Given the description of an element on the screen output the (x, y) to click on. 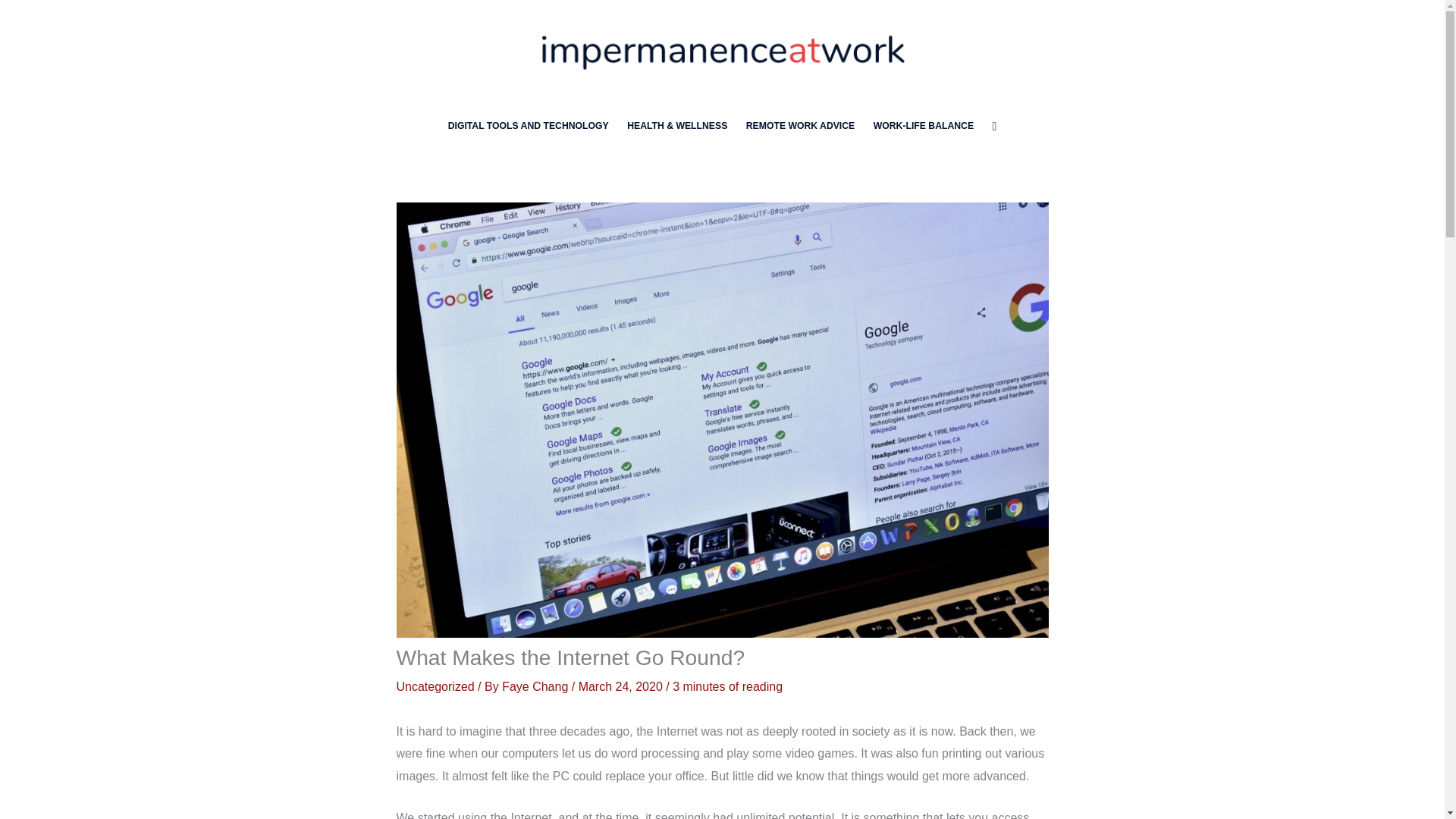
View all posts by Faye Chang (537, 686)
Faye Chang (537, 686)
DIGITAL TOOLS AND TECHNOLOGY (527, 125)
WORK-LIFE BALANCE (922, 125)
Uncategorized (435, 686)
REMOTE WORK ADVICE (800, 125)
